Given the description of an element on the screen output the (x, y) to click on. 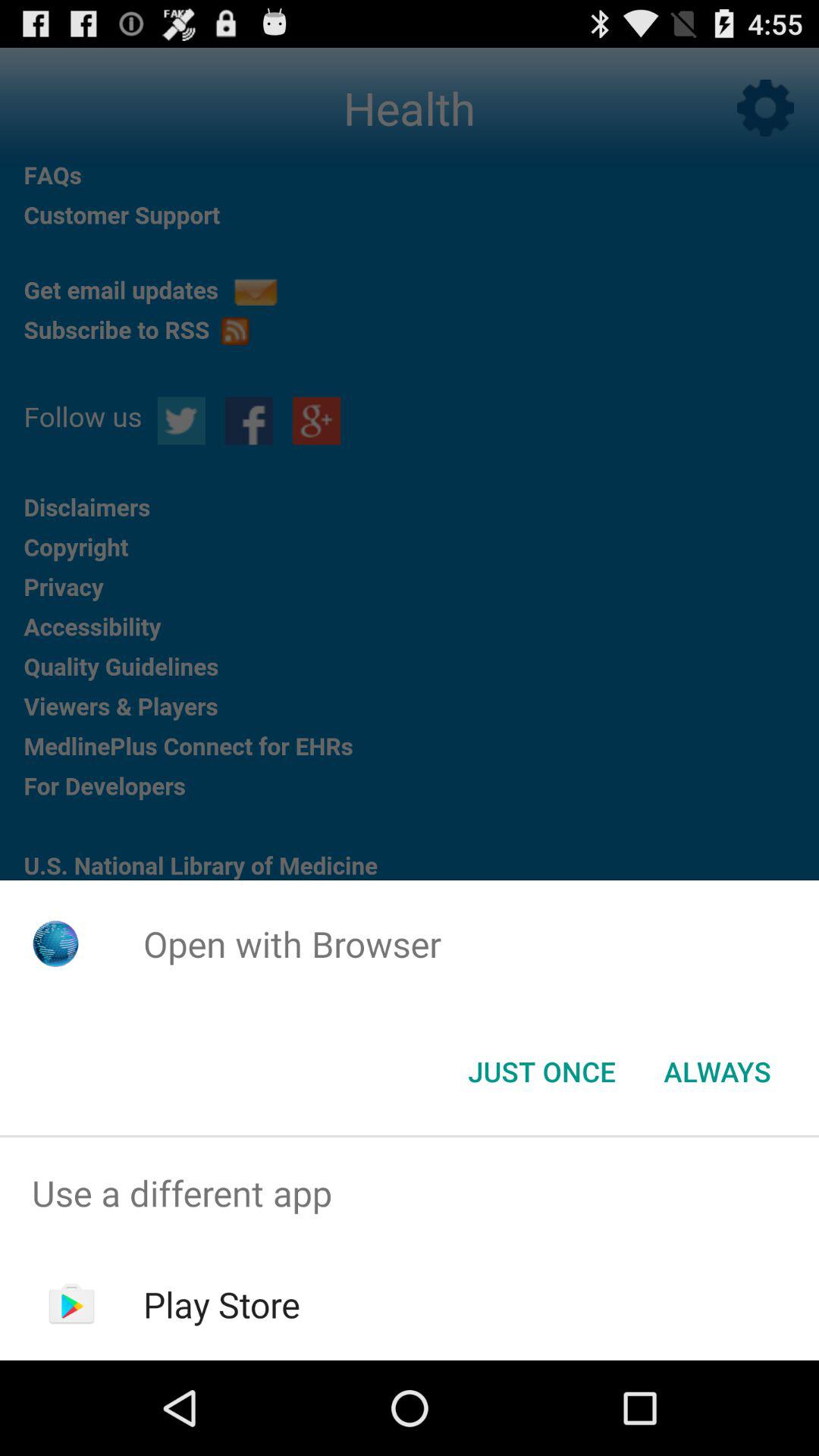
jump to the just once icon (541, 1071)
